Given the description of an element on the screen output the (x, y) to click on. 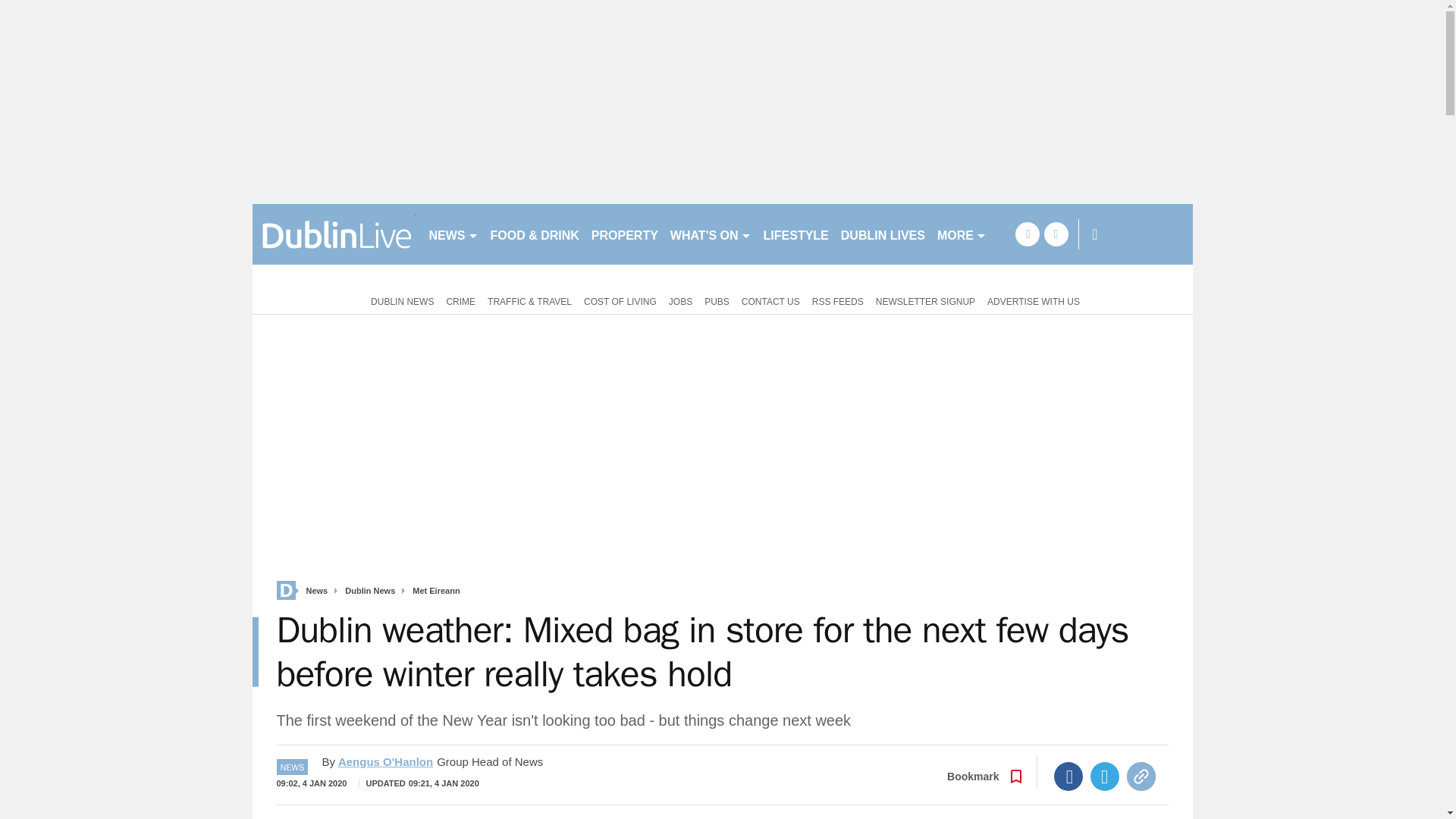
DUBLIN LIVES (882, 233)
facebook (1026, 233)
WHAT'S ON (710, 233)
PROPERTY (624, 233)
NEWS (453, 233)
dublinlive (332, 233)
twitter (1055, 233)
Facebook (1068, 776)
MORE (961, 233)
LIFESTYLE (795, 233)
